Given the description of an element on the screen output the (x, y) to click on. 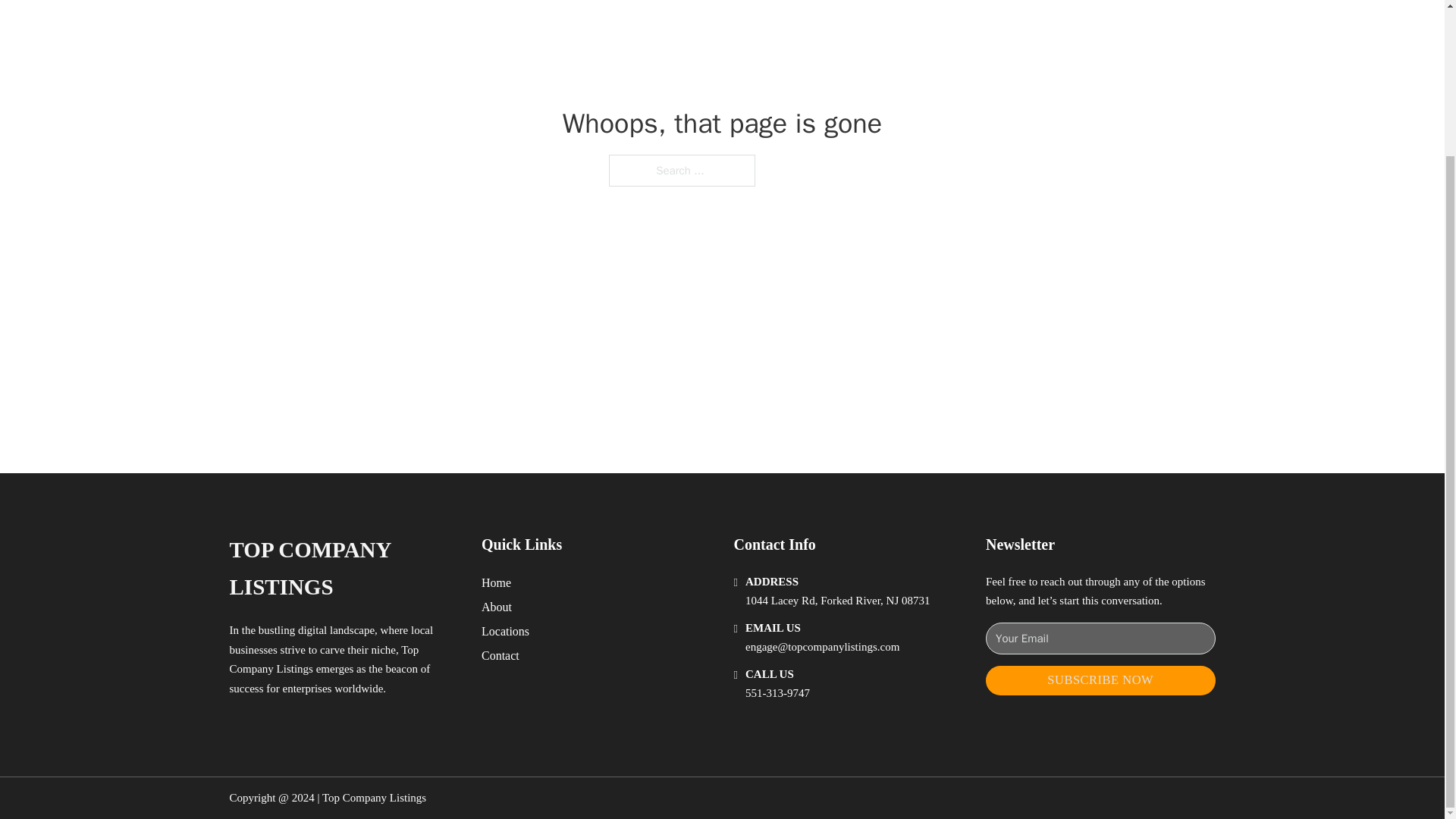
Home (496, 582)
SUBSCRIBE NOW (1100, 680)
About (496, 607)
TOP COMPANY LISTINGS (343, 568)
Locations (505, 630)
551-313-9747 (777, 693)
Contact (500, 655)
